Given the description of an element on the screen output the (x, y) to click on. 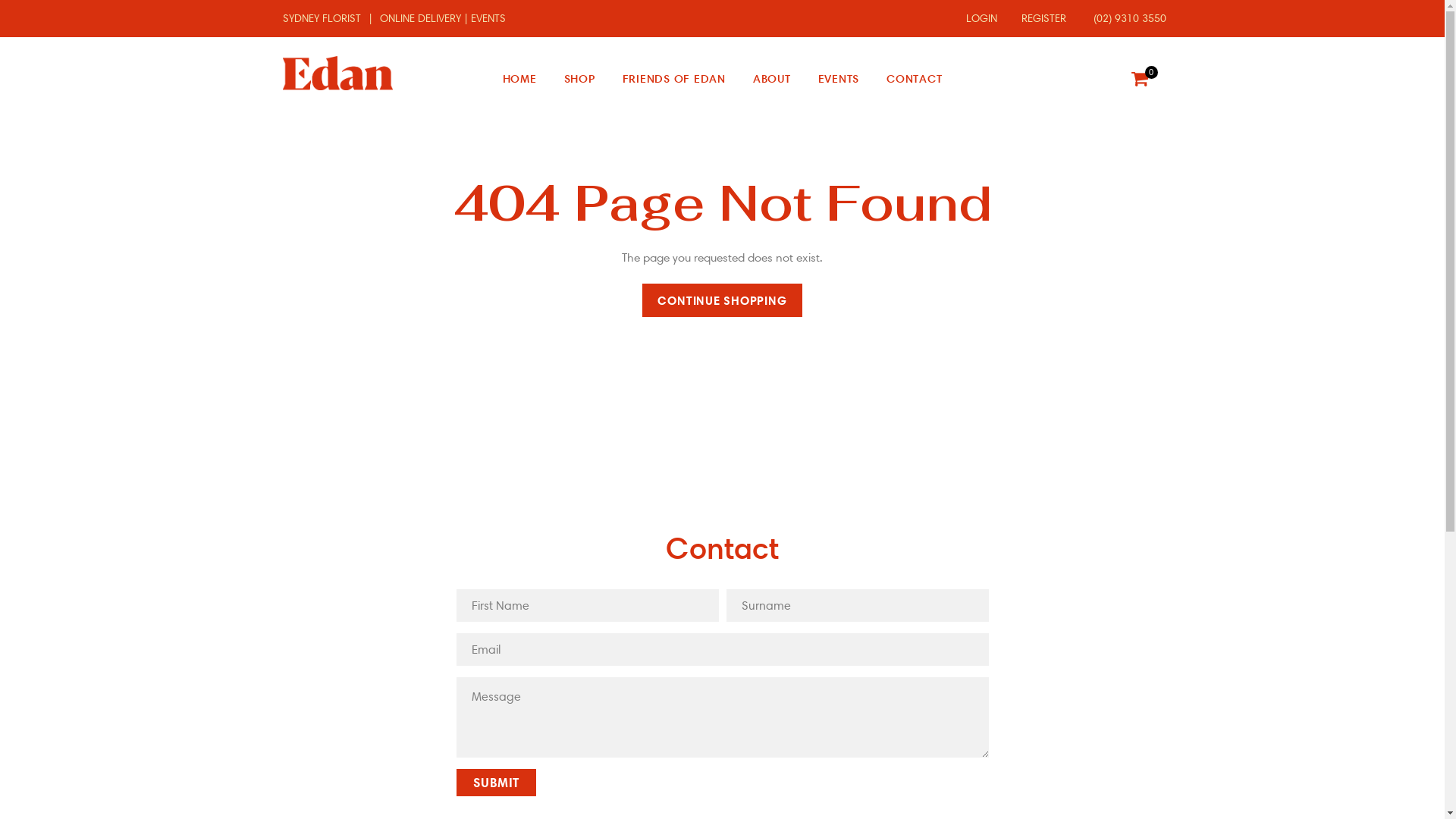
REGISTER Element type: text (1038, 18)
(02) 9310 3550 Element type: text (1123, 18)
0 Element type: text (1138, 78)
My Account Element type: hover (1108, 78)
HOME Element type: text (519, 78)
EVENTS Element type: text (838, 78)
FRIENDS OF EDAN Element type: text (674, 78)
SUBMIT Element type: text (496, 782)
SHOP Element type: text (579, 78)
LOGIN Element type: text (977, 18)
CONTACT Element type: text (913, 78)
ABOUT Element type: text (771, 78)
CONTINUE SHOPPING Element type: text (721, 299)
